Given the description of an element on the screen output the (x, y) to click on. 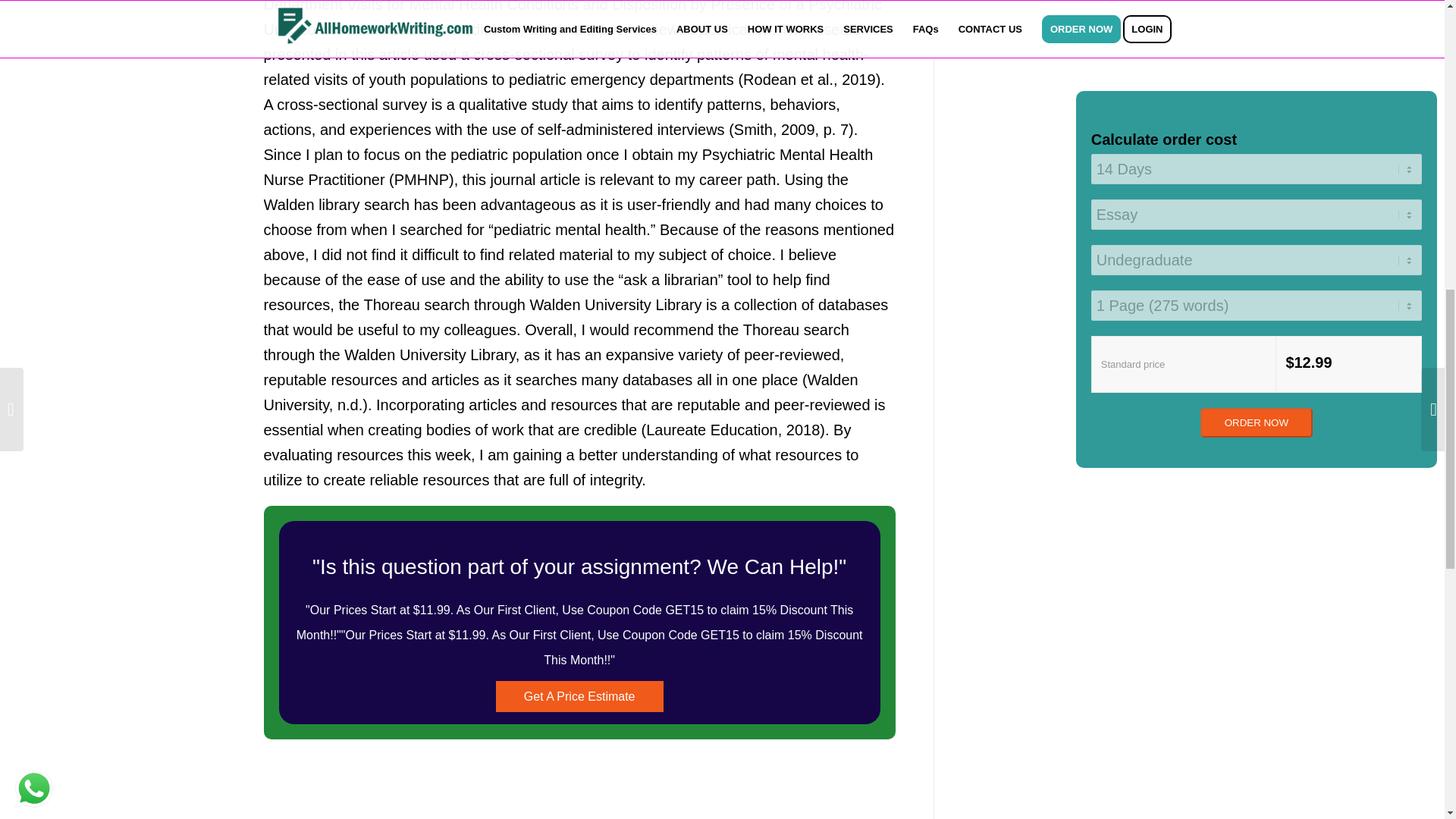
Get A Price Estimate (579, 695)
